Given the description of an element on the screen output the (x, y) to click on. 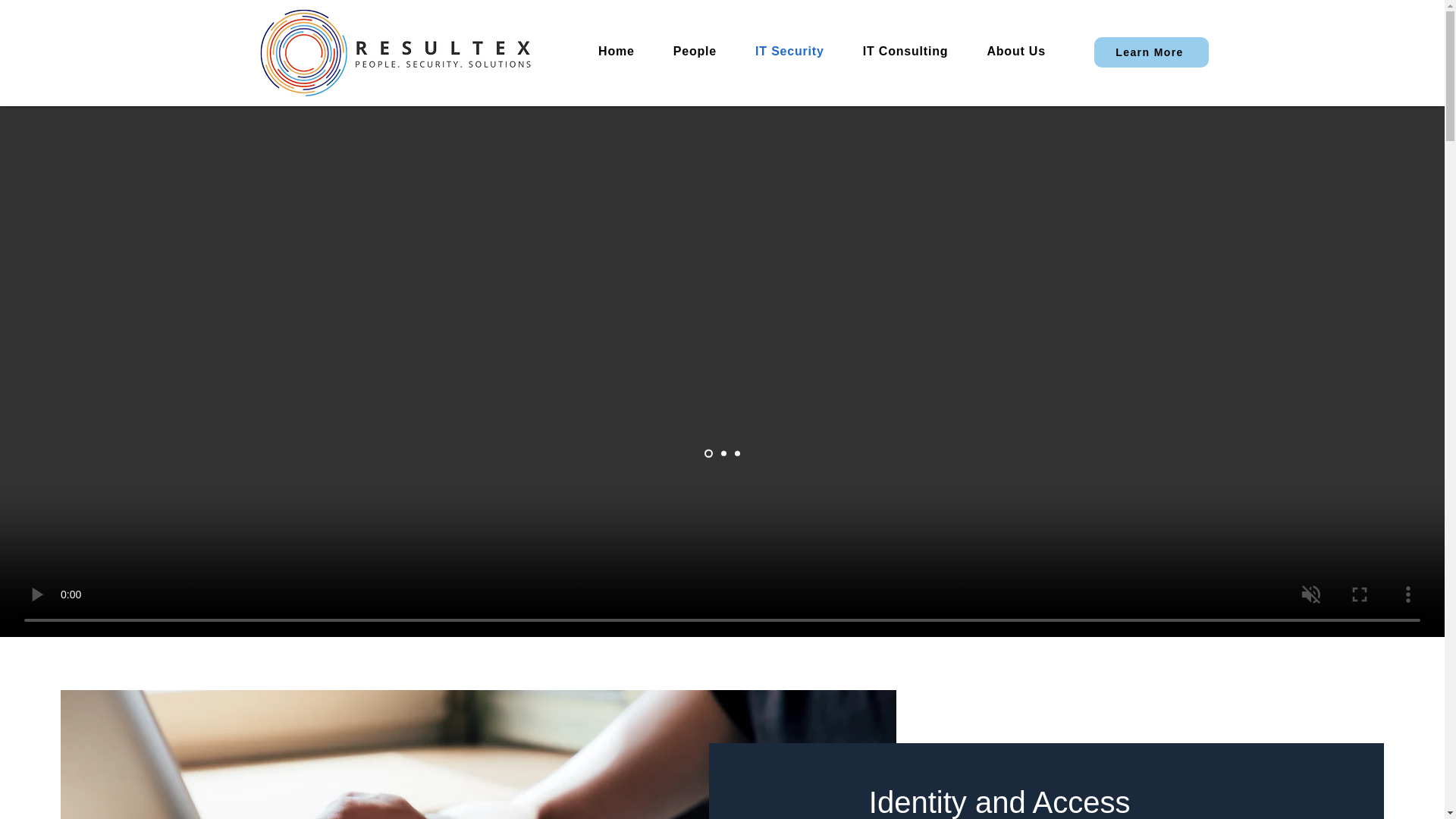
People (694, 51)
About Us (1016, 51)
IT Security (790, 51)
Learn More (1150, 51)
IT Consulting (904, 51)
Home (616, 51)
